Given the description of an element on the screen output the (x, y) to click on. 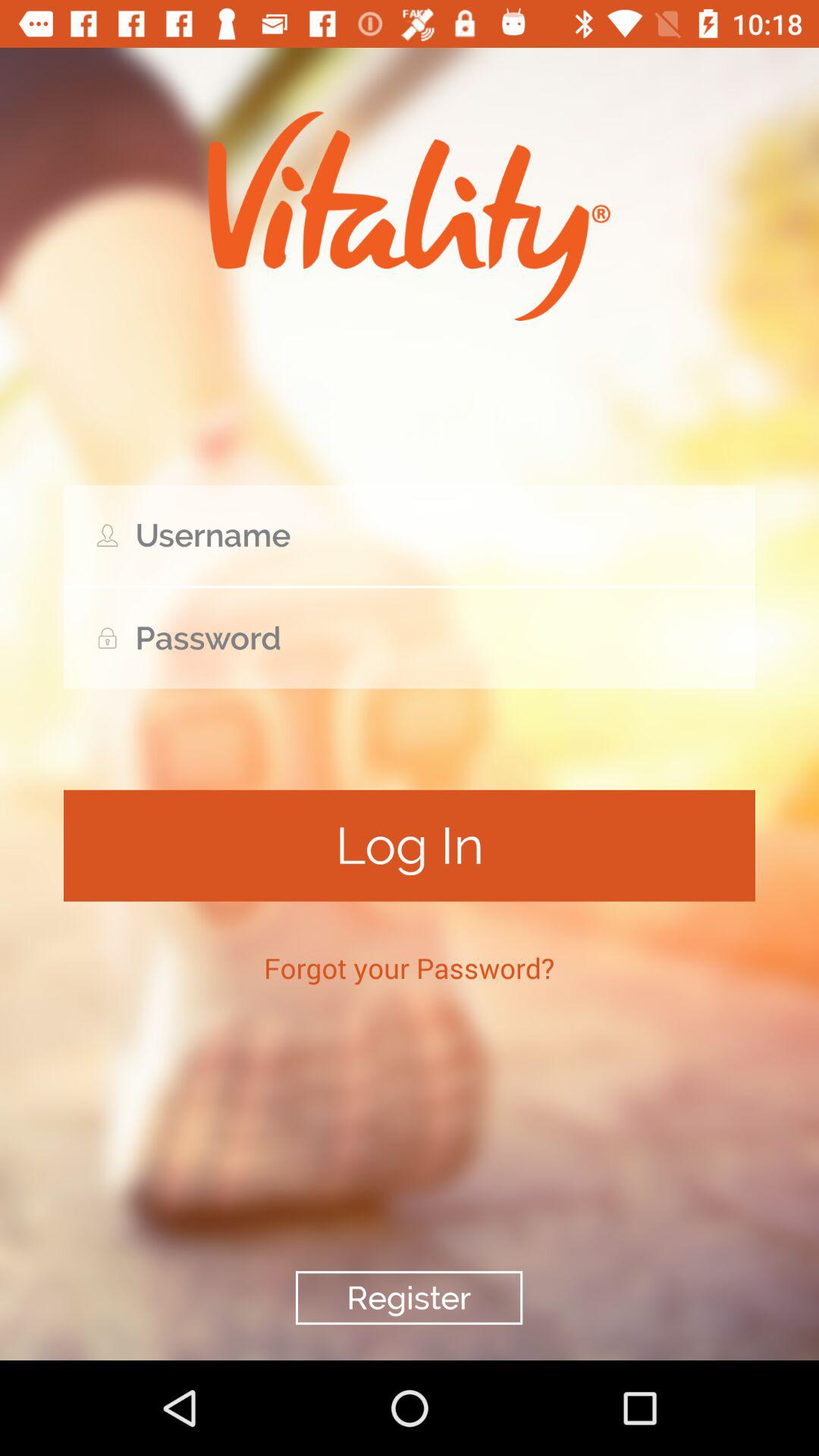
open icon above the register item (408, 967)
